Given the description of an element on the screen output the (x, y) to click on. 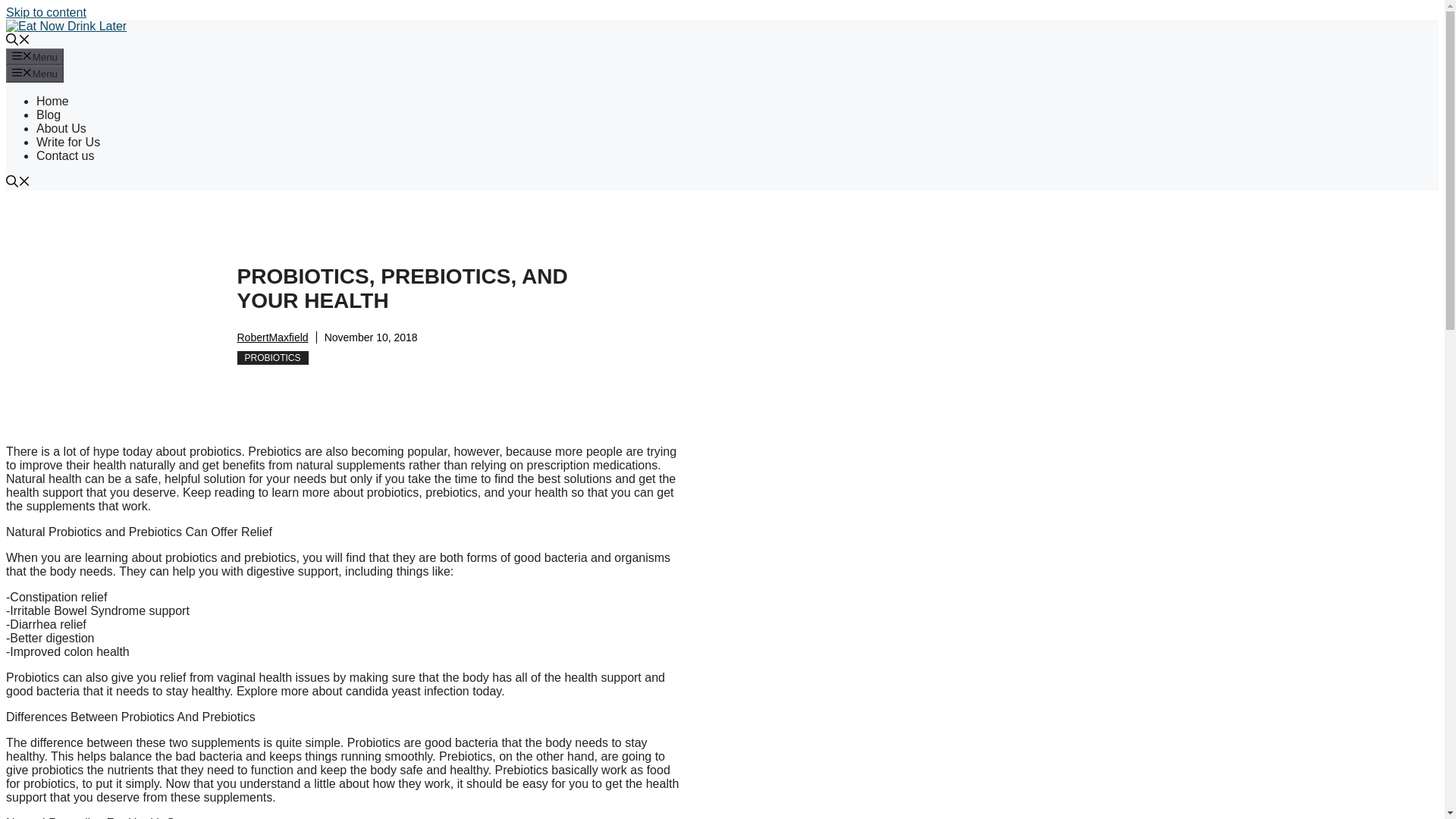
Skip to content (45, 11)
About Us (60, 128)
Write for Us (68, 141)
Blog (48, 114)
Home (52, 101)
RobertMaxfield (271, 337)
Menu (34, 56)
Skip to content (45, 11)
PROBIOTICS (271, 357)
Menu (34, 73)
